Given the description of an element on the screen output the (x, y) to click on. 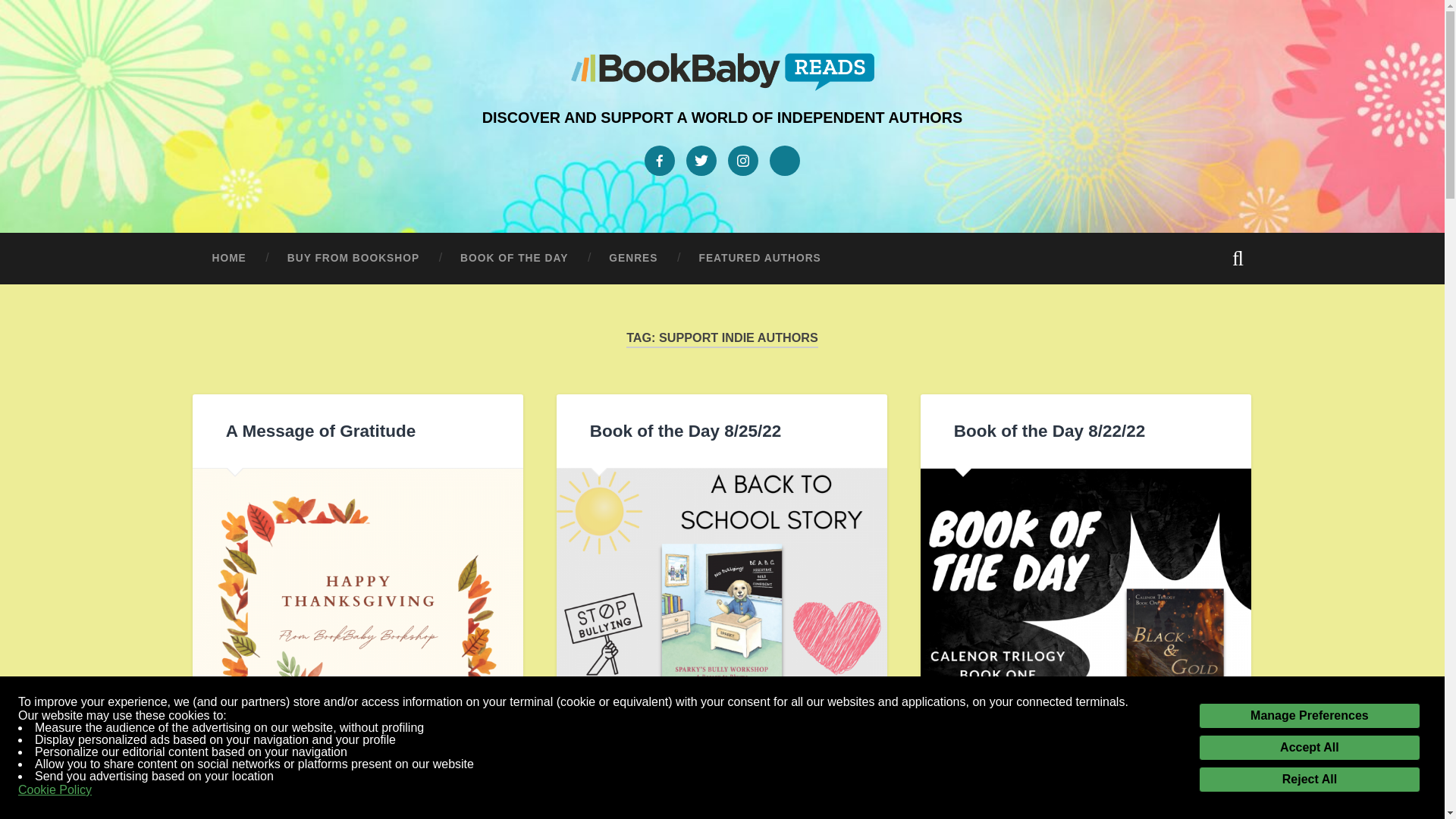
FEATURED AUTHORS (759, 258)
Accept All (1309, 747)
HOME (228, 258)
Cookie Policy (54, 789)
BUY FROM BOOKSHOP (352, 258)
BOOK OF THE DAY (513, 258)
A Message of Gratitude (357, 633)
GENRES (633, 258)
Reject All (1309, 779)
Manage Preferences (1309, 715)
A Message of Gratitude (319, 430)
